Given the description of an element on the screen output the (x, y) to click on. 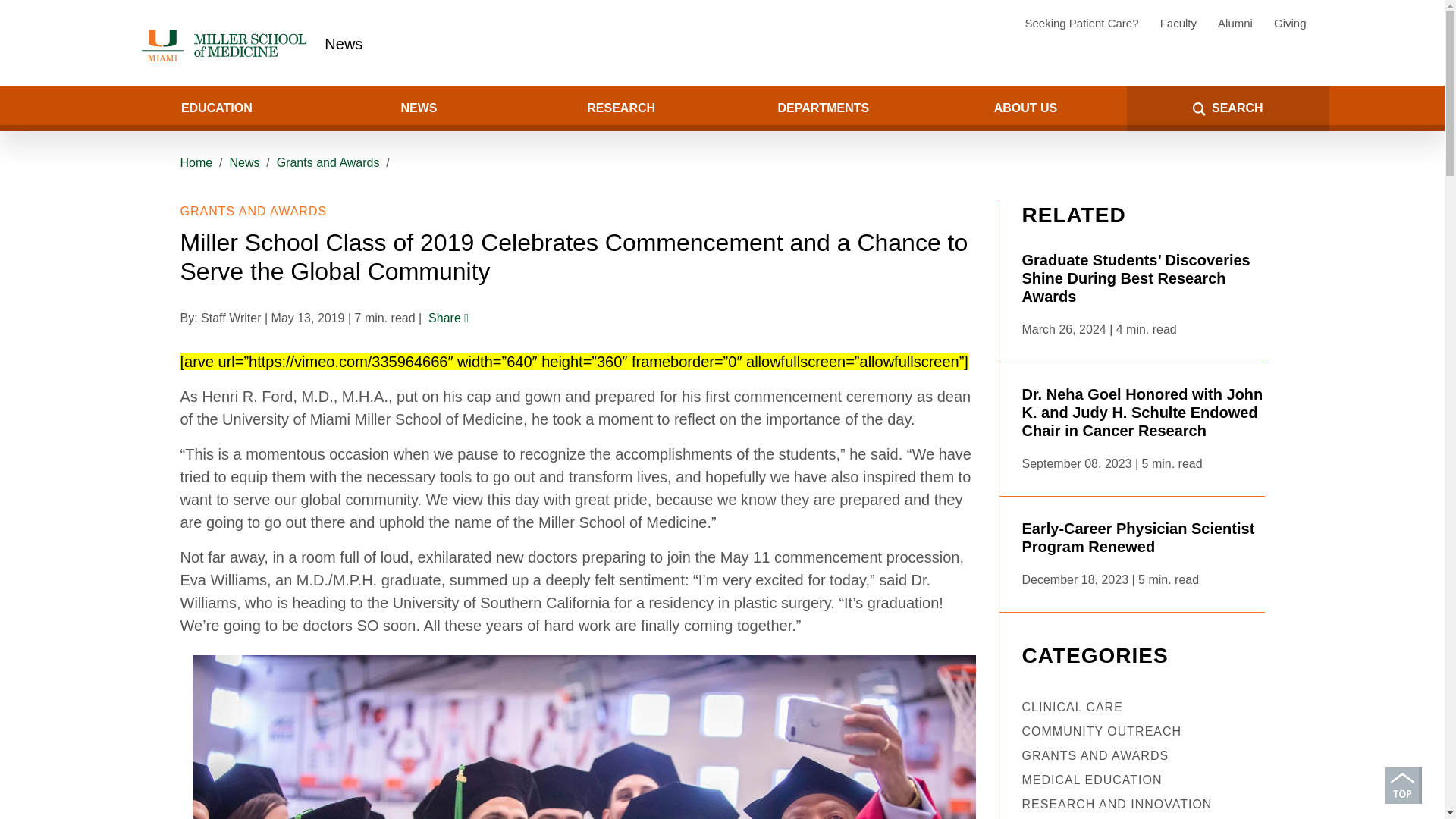
NEWS (418, 108)
EDUCATION (216, 108)
News (343, 44)
RESEARCH (620, 108)
Miller School of Medicine (227, 45)
Search (57, 108)
